Given the description of an element on the screen output the (x, y) to click on. 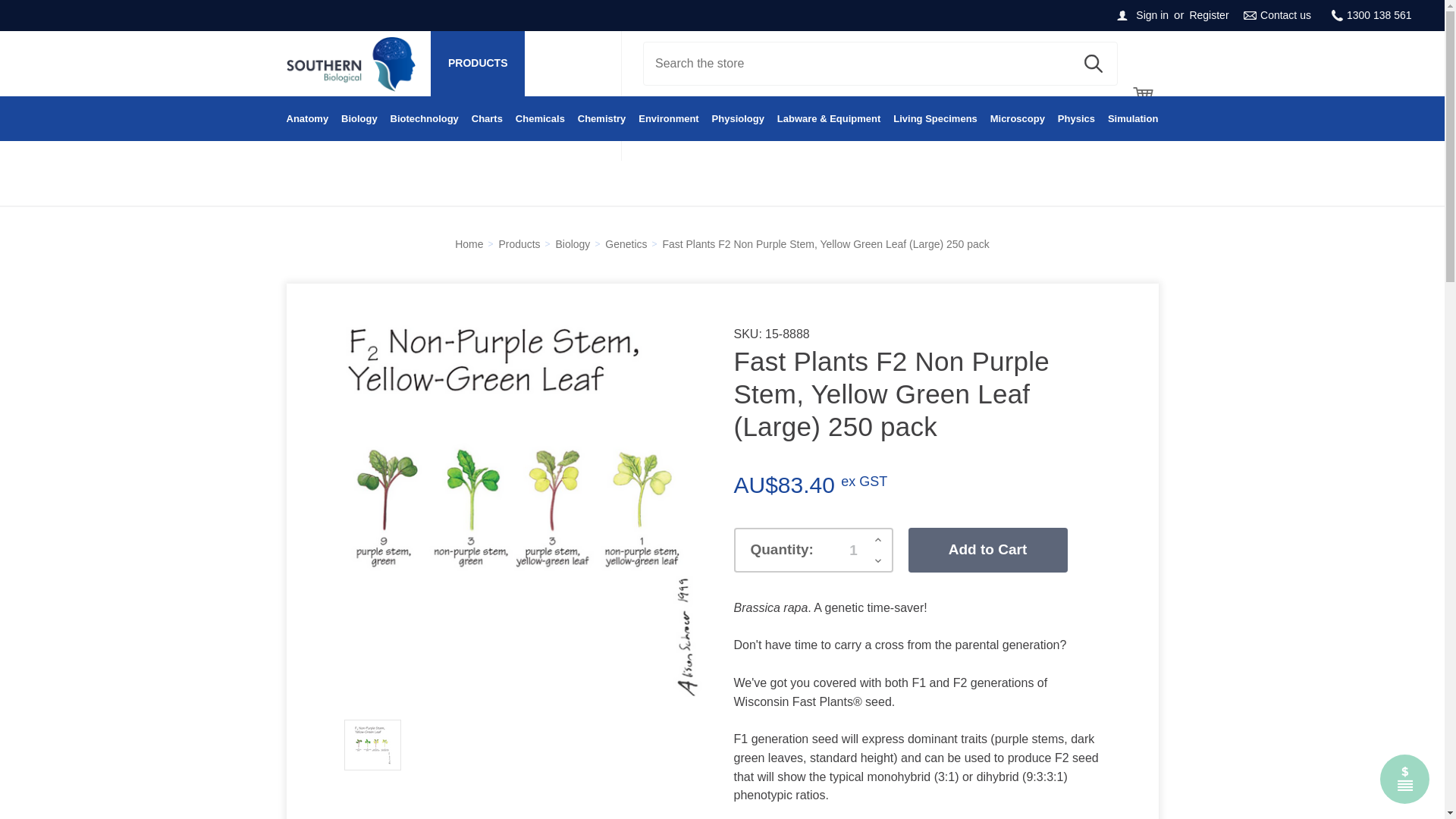
PRODUCTS (477, 63)
Biology (358, 118)
1300 138 561 (1372, 15)
southern biological logo (350, 63)
Add to Cart (987, 549)
Register (1208, 15)
Sign in (1151, 15)
1 (853, 550)
Anatomy (307, 118)
Contact us (1276, 15)
